Given the description of an element on the screen output the (x, y) to click on. 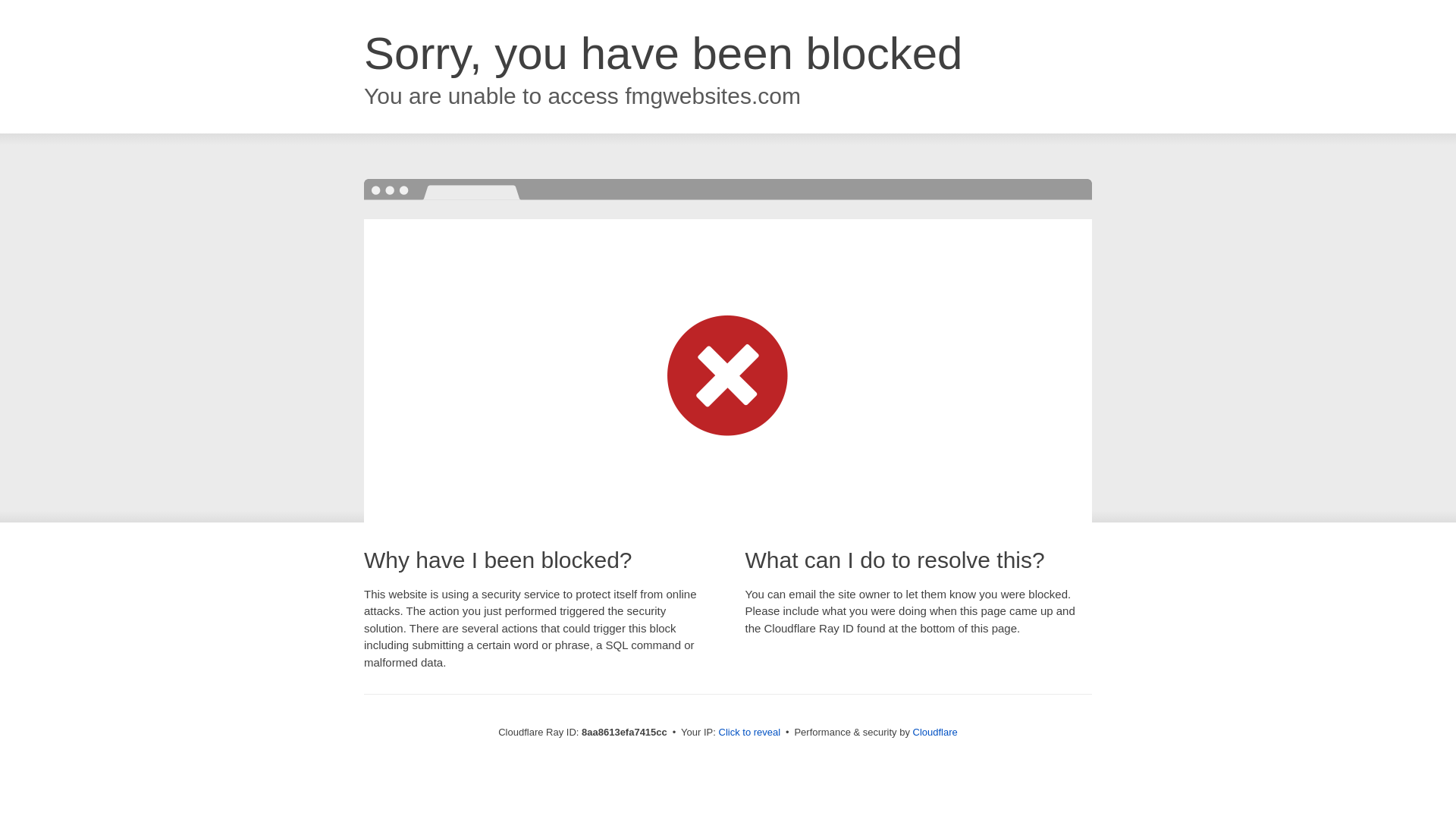
Click to reveal (749, 732)
Cloudflare (935, 731)
